Given the description of an element on the screen output the (x, y) to click on. 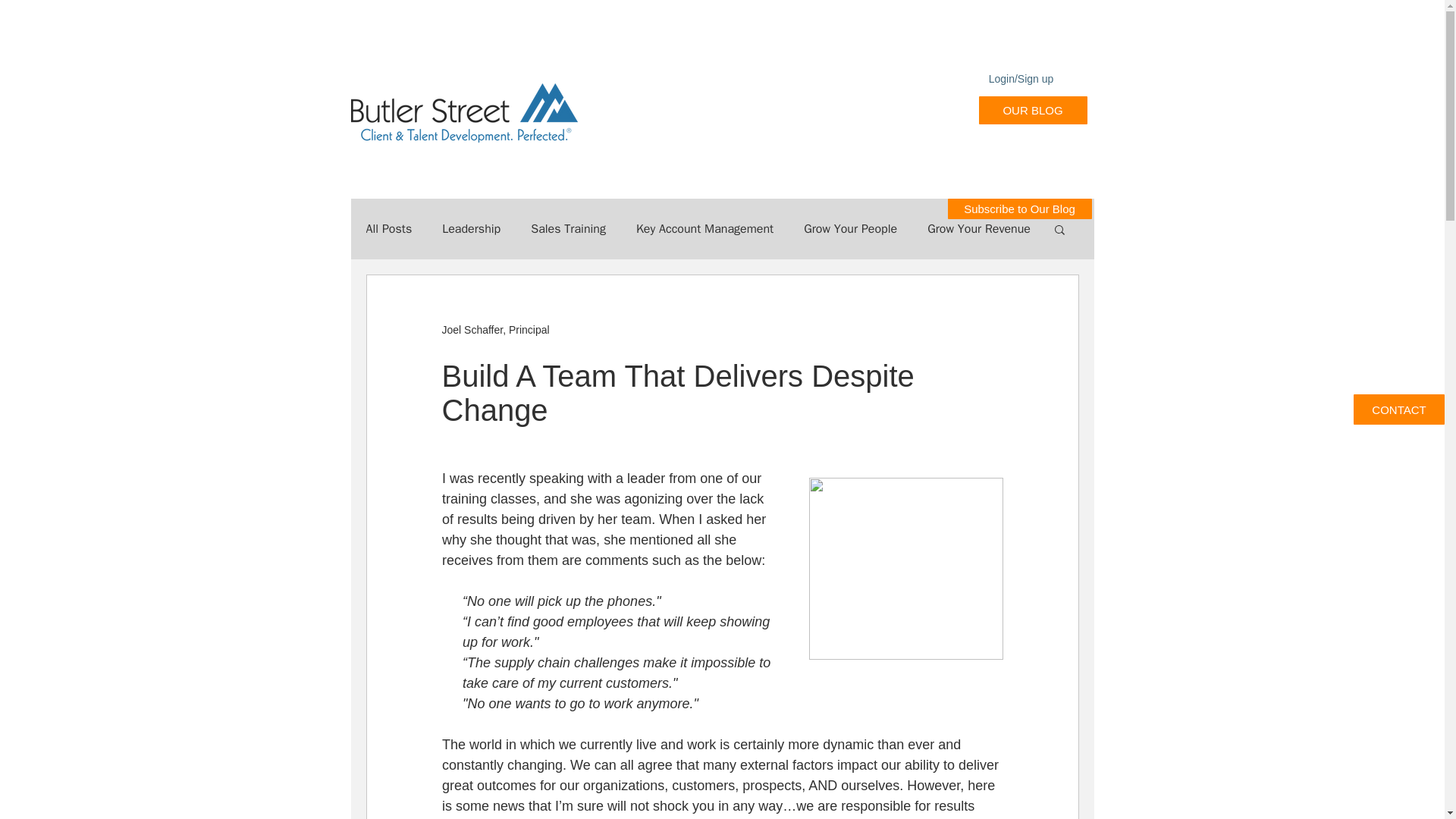
Key Account Management (704, 229)
Butlerstreetlogo.png (463, 113)
Joel Schaffer, Principal (494, 329)
Leadership (471, 229)
Log In (1035, 109)
Grow Your People (849, 229)
Grow Your Revenue (978, 229)
OUR BLOG (1032, 110)
Sales Training (568, 229)
All Posts (388, 229)
